Given the description of an element on the screen output the (x, y) to click on. 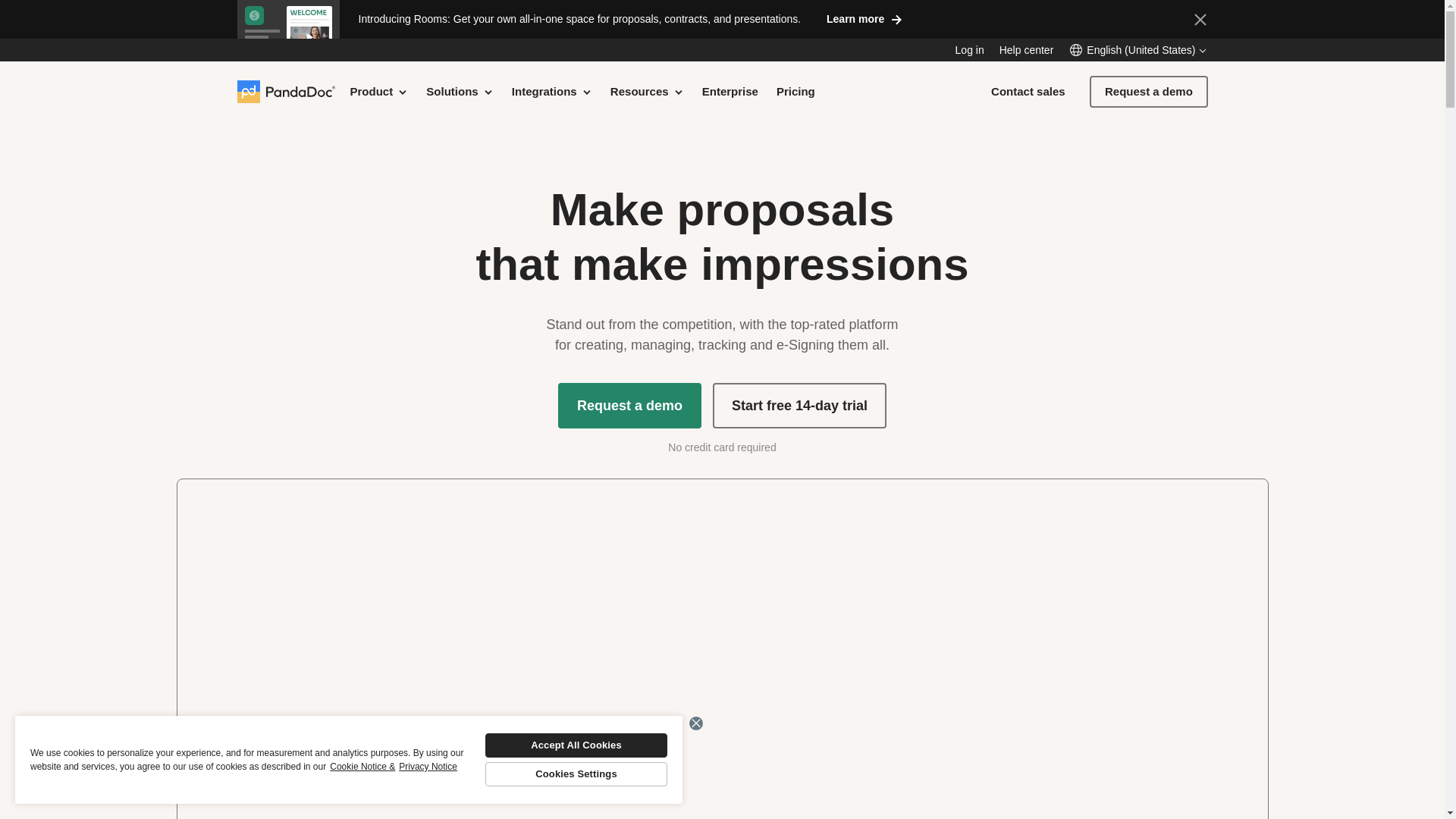
Solutions (459, 91)
Product (379, 91)
Learn more (864, 18)
Log in (969, 50)
Help center (1026, 50)
